Given the description of an element on the screen output the (x, y) to click on. 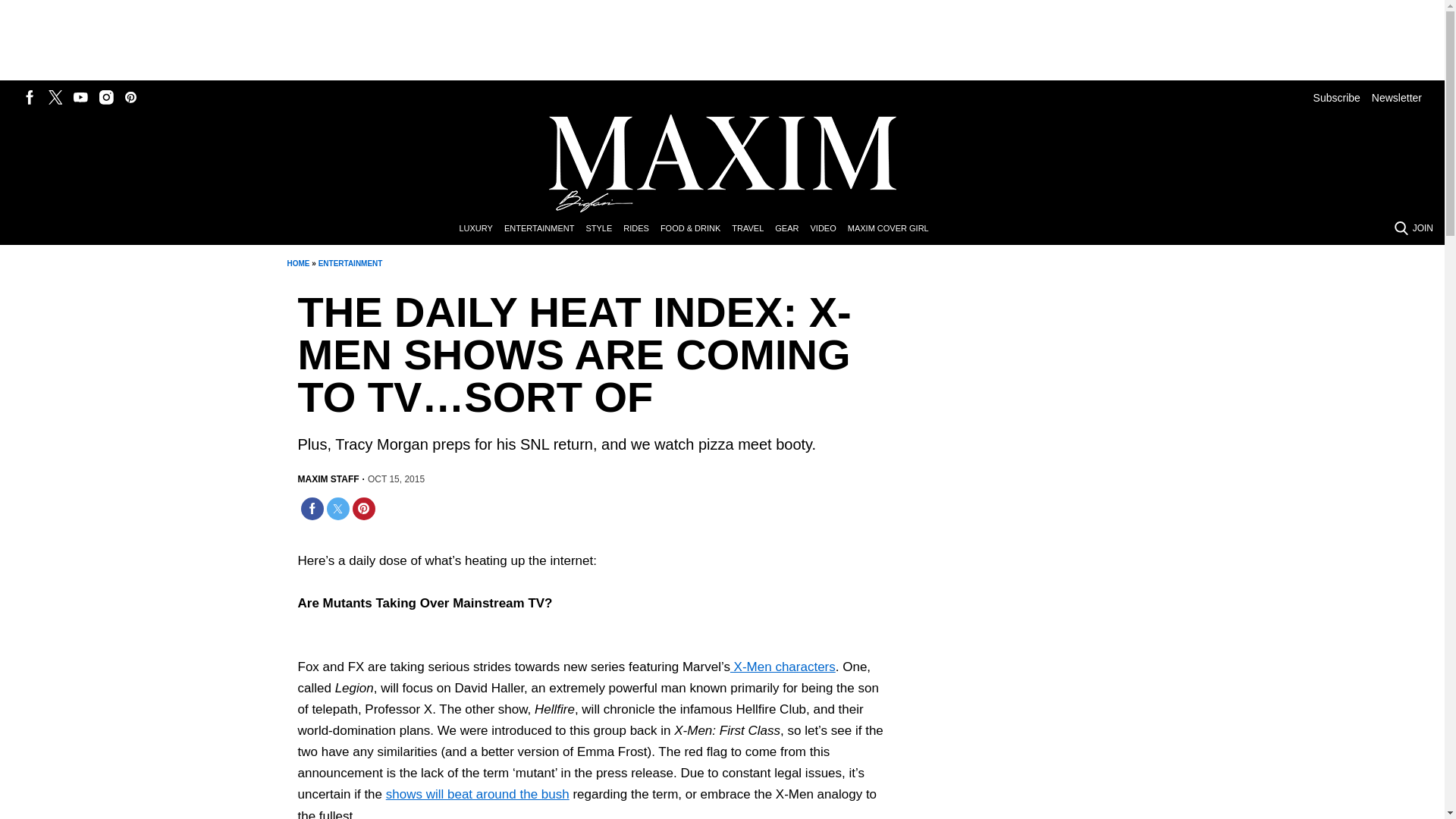
Follow us on Facebook (30, 97)
Posts by Maxim Staff (327, 479)
RIDES (642, 228)
ENTERTAINMENT (350, 263)
MAXIM STAFF (327, 479)
Follow us on Twitter (55, 97)
ENTERTAINMENT (544, 228)
Share on Twitter (337, 508)
LUXURY (480, 228)
Follow us on Instagram (106, 97)
Follow us on pinterest (130, 97)
Share on Facebook (311, 508)
MAXIM COVER GIRL (893, 228)
Follow us on Youtube (80, 97)
VIDEO (828, 228)
